Given the description of an element on the screen output the (x, y) to click on. 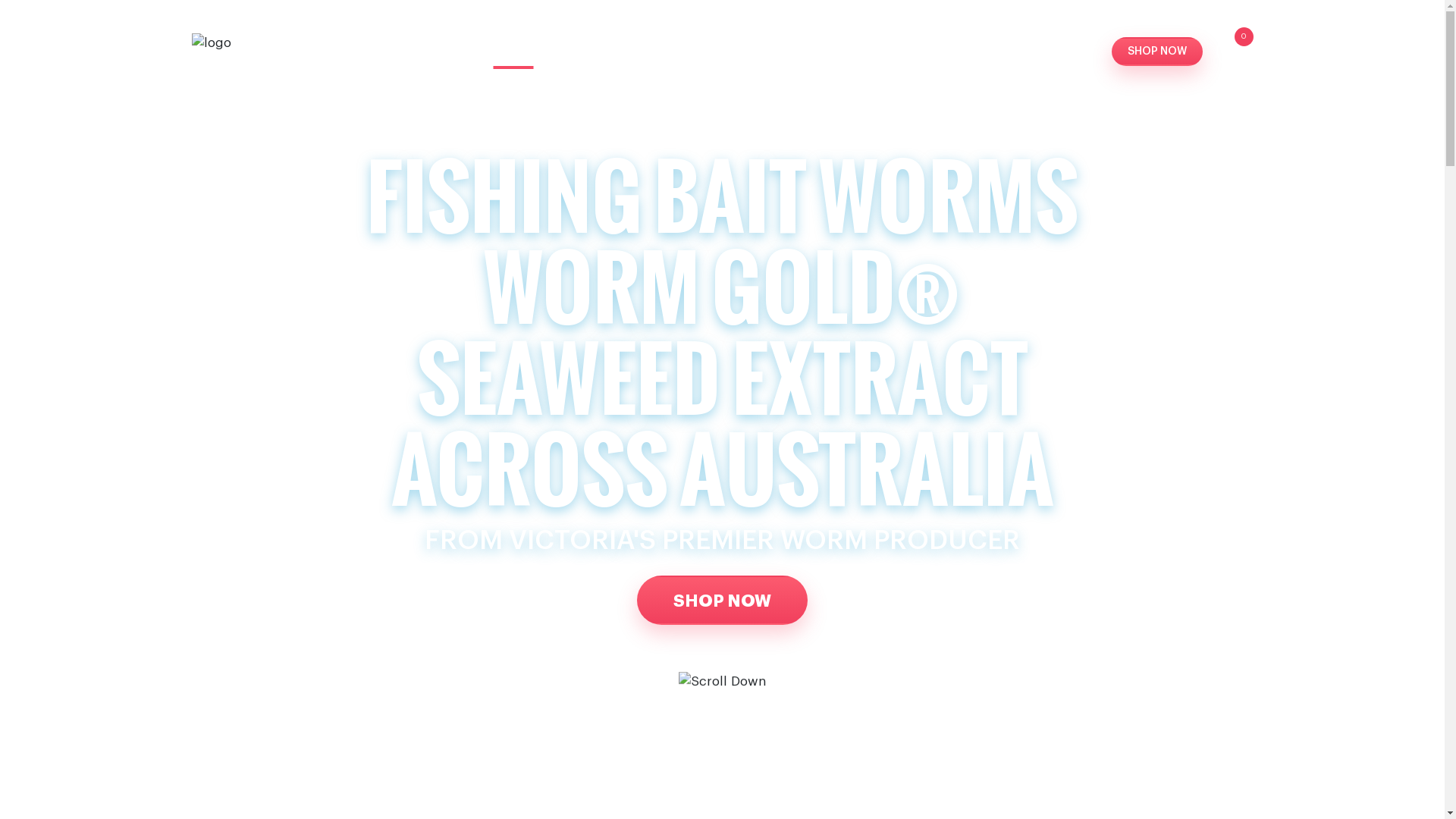
OUR WORMS Element type: text (701, 50)
HOME Element type: text (512, 50)
SHOP NOW Element type: text (722, 599)
WORM GOLD Element type: text (810, 50)
SHOP NOW Element type: text (1156, 51)
SEAWEED EXTRACT Element type: text (941, 50)
OUR STORY Element type: text (595, 50)
CONTACT Element type: text (1061, 50)
